Given the description of an element on the screen output the (x, y) to click on. 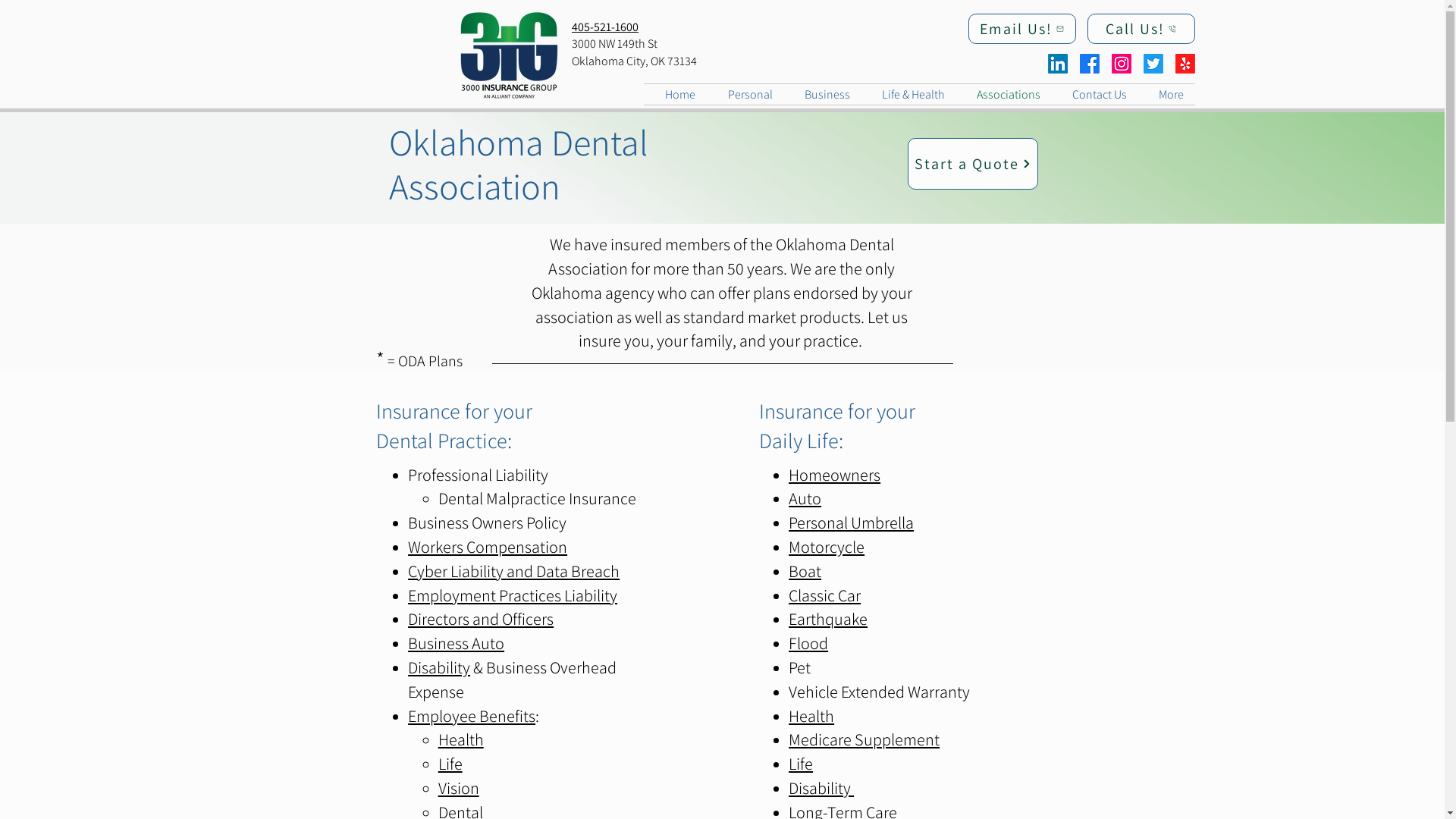
Business Element type: text (822, 94)
Disability  Element type: text (820, 787)
Disability Element type: text (438, 666)
Email Us! Element type: text (1022, 28)
Vision Element type: text (458, 787)
Earthquake Element type: text (827, 618)
Directors and Officers Element type: text (480, 618)
Employee Benefits Element type: text (471, 715)
Auto Element type: text (804, 498)
Cyber Liability and Data Breach Element type: text (513, 570)
Life Element type: text (800, 763)
Health Element type: text (811, 715)
Start a Quote Element type: text (971, 163)
Motorcycle Element type: text (826, 546)
Business Auto Element type: text (455, 642)
Personal Umbrella Element type: text (850, 522)
Workers Compensation Element type: text (487, 546)
Boat Element type: text (804, 570)
Personal Element type: text (745, 94)
Home Element type: text (674, 94)
Contact Us Element type: text (1094, 94)
Flood Element type: text (808, 642)
Homeowners Element type: text (834, 474)
Associations Element type: text (1003, 94)
Classic Car Element type: text (824, 595)
405-521-1600 Element type: text (604, 26)
Life Element type: text (450, 763)
Life & Health Element type: text (908, 94)
Call Us! Element type: text (1141, 28)
Employment Practices Liability Element type: text (512, 595)
Health Element type: text (460, 739)
Medicare Supplement Element type: text (863, 739)
3iG_logo_CO.png Element type: hover (508, 55)
